Given the description of an element on the screen output the (x, y) to click on. 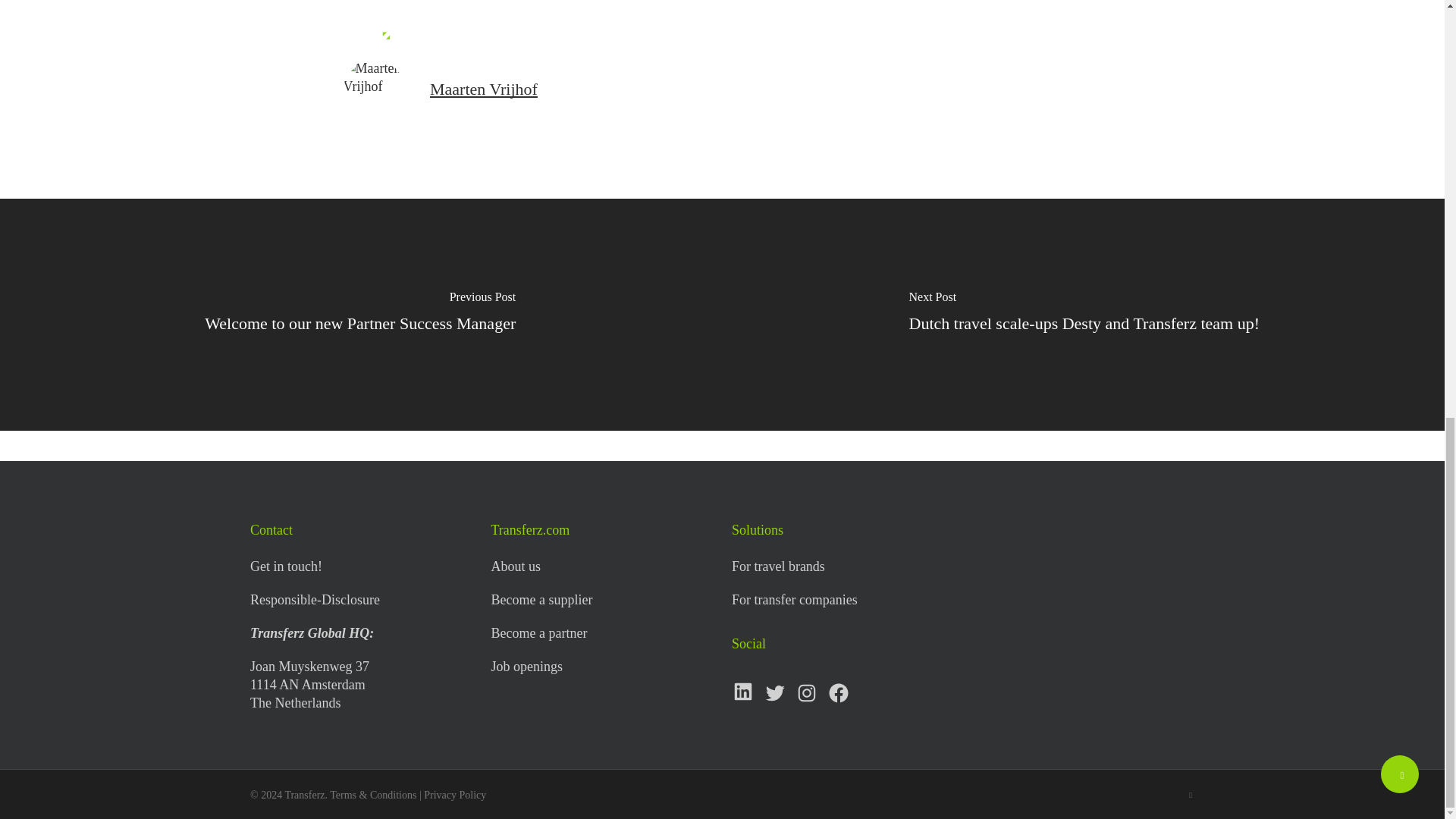
Responsible-Disclosure (315, 599)
For transfer companies (794, 599)
Twitter (774, 692)
Job openings (526, 666)
LinkedIn (743, 691)
About us (515, 566)
Privacy Policy (454, 794)
Get in touch! (285, 566)
Maarten Vrijhof (483, 88)
Become a supplier (541, 599)
